Given the description of an element on the screen output the (x, y) to click on. 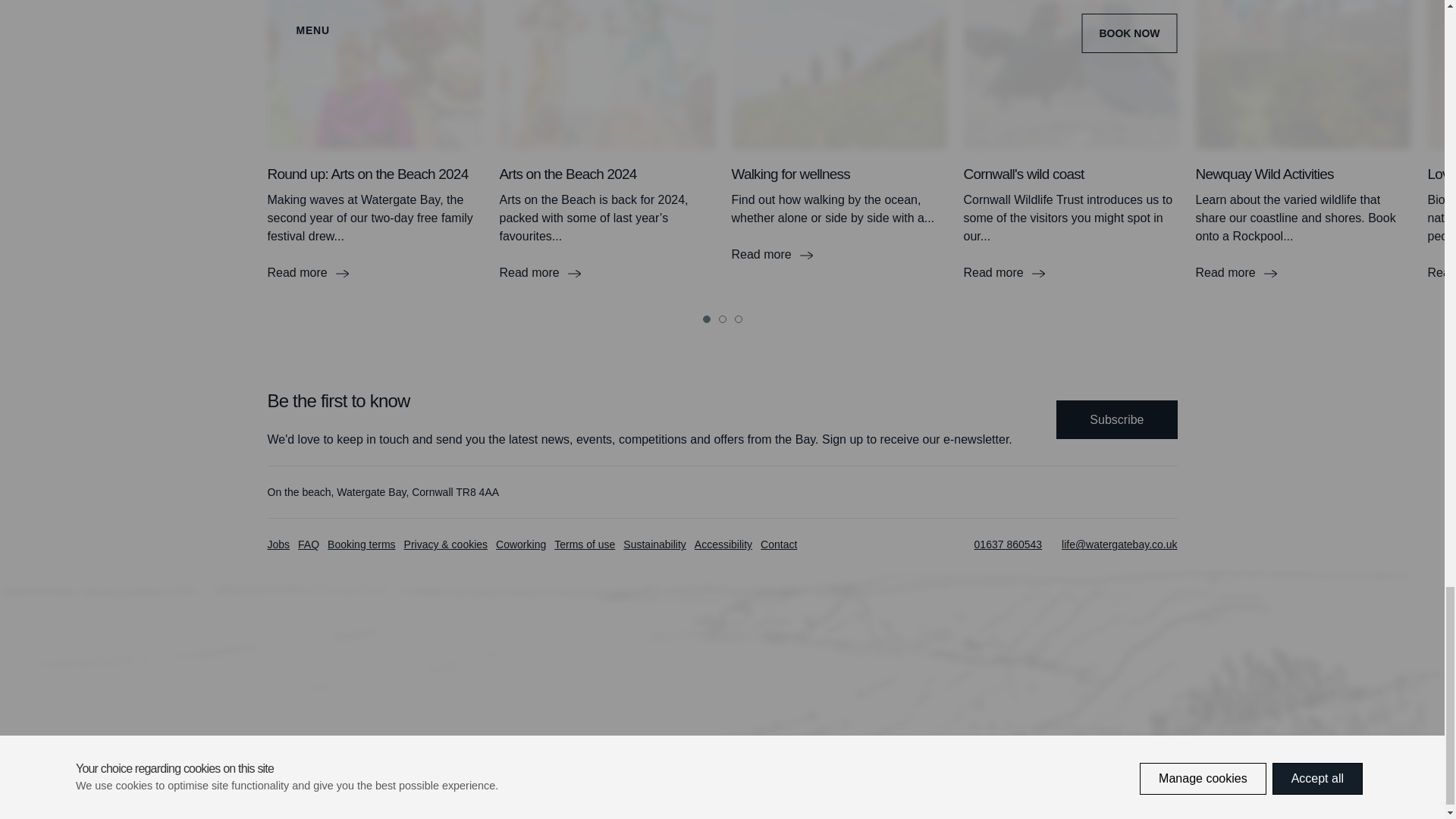
Vimeo (1118, 492)
Love of life: Marianna Popejoy (1441, 272)
Trip Advisor (1151, 492)
Instagram (1085, 492)
Facebook (1052, 492)
Round up: Arts on the Beach 2024 (373, 272)
Cornwall's wild coast (1069, 272)
Walking for wellness (838, 254)
Arts on the Beach 2024 (606, 272)
Newquay Wild Activities (1302, 272)
